Given the description of an element on the screen output the (x, y) to click on. 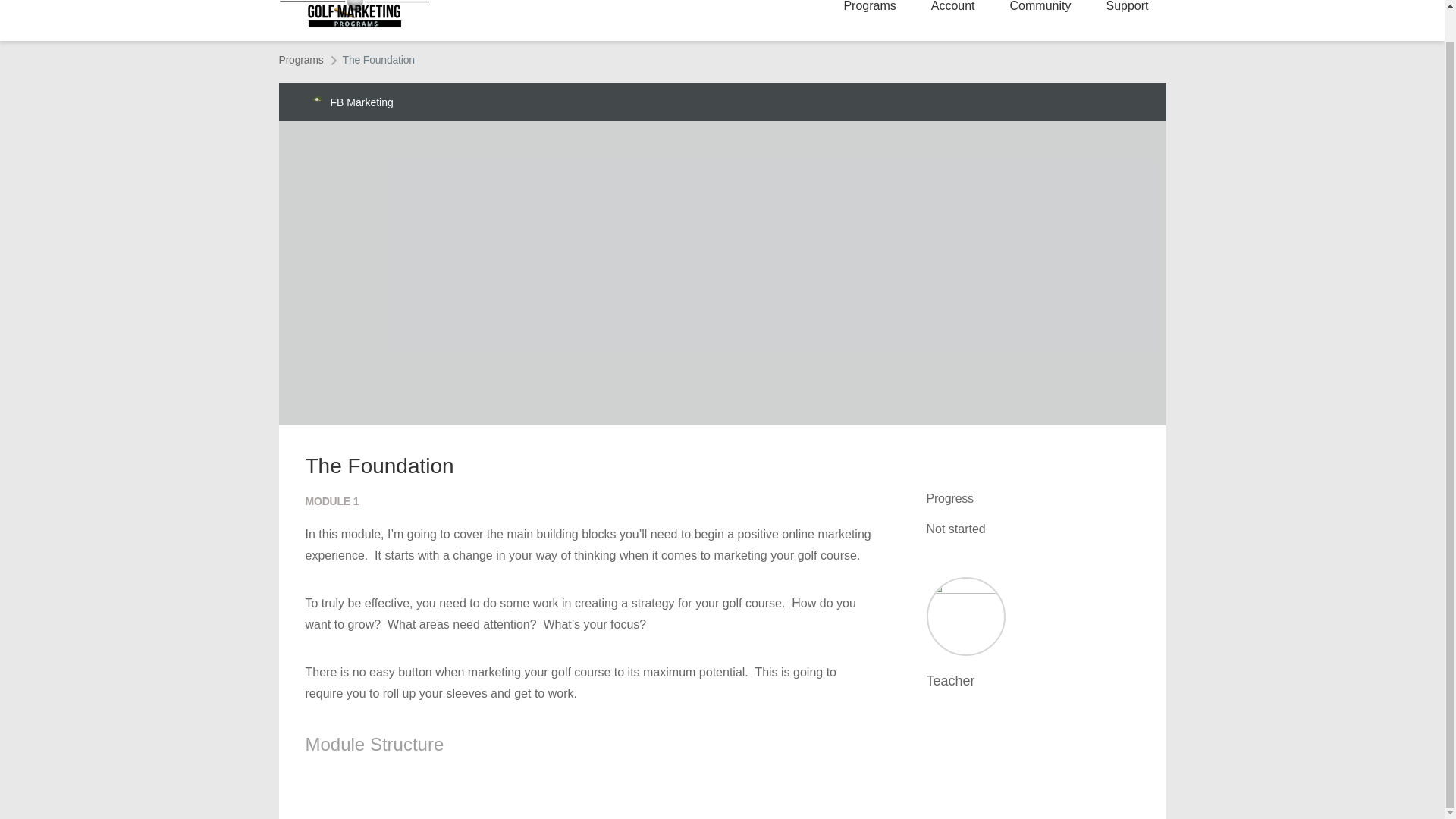
Programs (301, 59)
Programs (869, 6)
Support (1126, 6)
Community (1040, 6)
The Foundation (378, 60)
Account (953, 6)
Programs (301, 59)
